Given the description of an element on the screen output the (x, y) to click on. 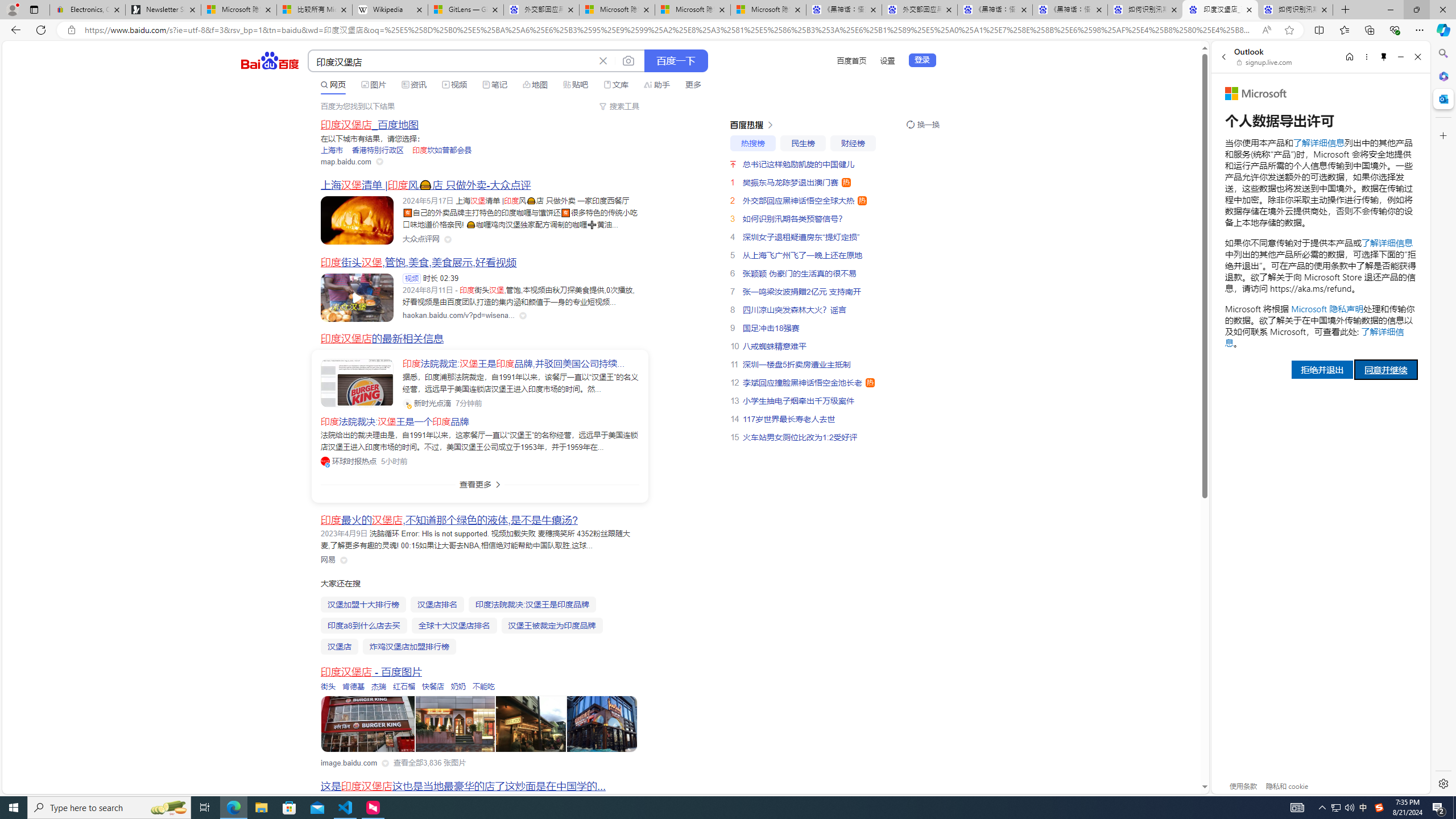
Class: siteLink_9TPP3 (327, 560)
